Given the description of an element on the screen output the (x, y) to click on. 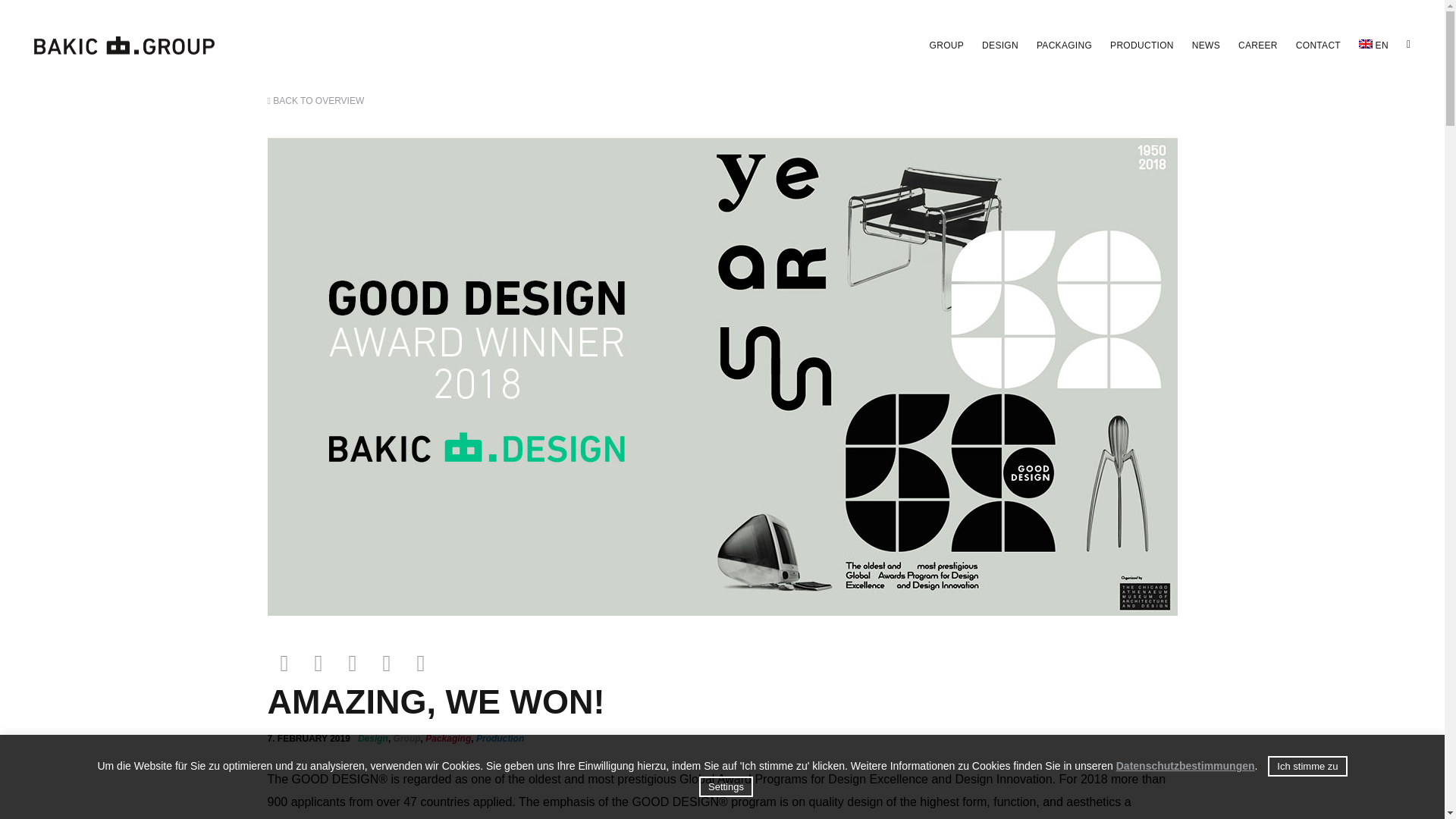
PACKAGING (1064, 45)
Share on Facebook (317, 663)
DESIGN (999, 45)
Share on LinkedIn (284, 663)
EN (1373, 45)
PRODUCTION (1141, 45)
Share on XING (385, 663)
Pin it on Pinterest (420, 663)
Share on Twitter (352, 663)
GROUP (946, 45)
